Given the description of an element on the screen output the (x, y) to click on. 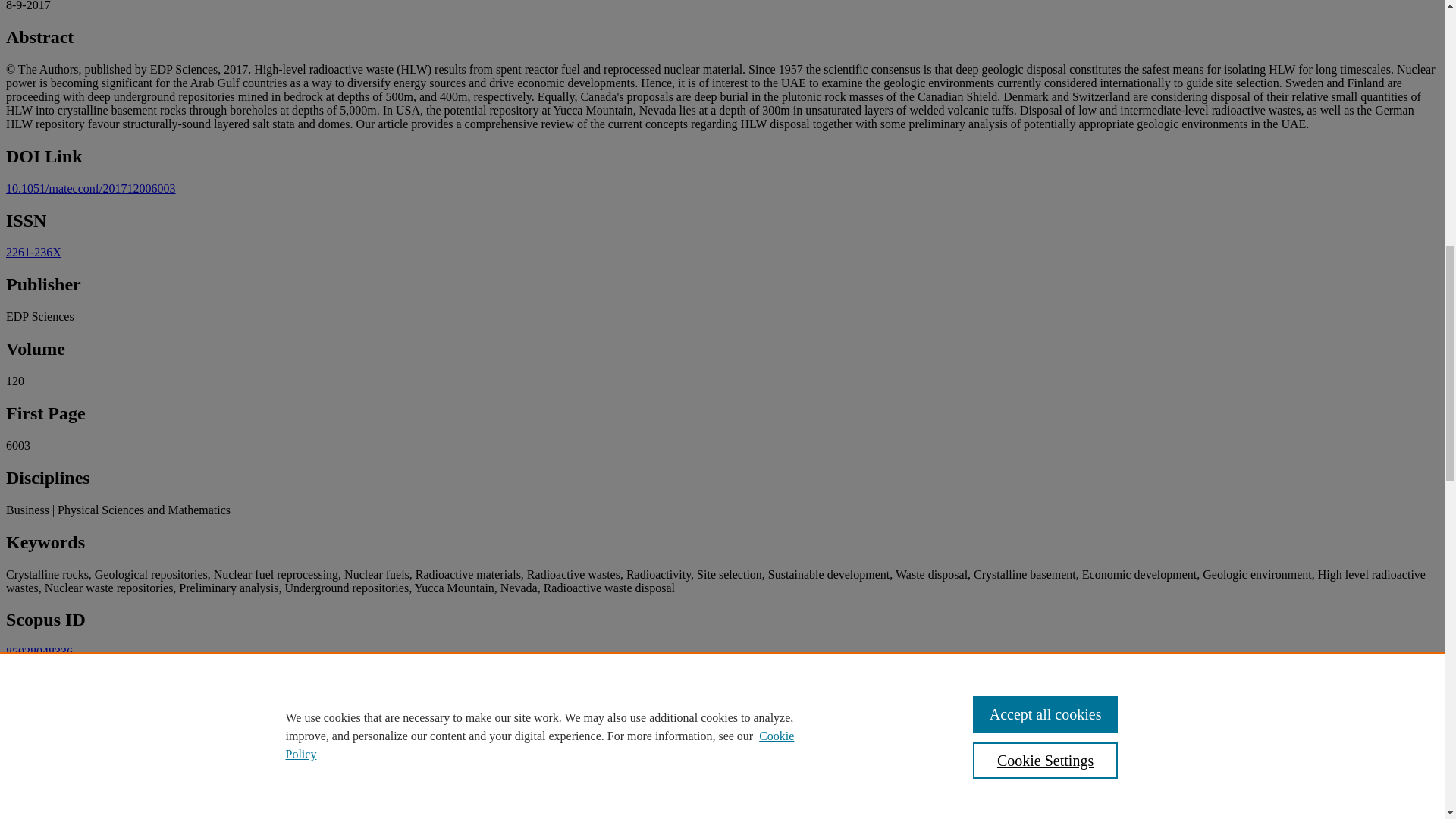
Creative Commons Attribution 4.0 International License (288, 742)
85028048336 (38, 651)
2261-236X (33, 251)
